Given the description of an element on the screen output the (x, y) to click on. 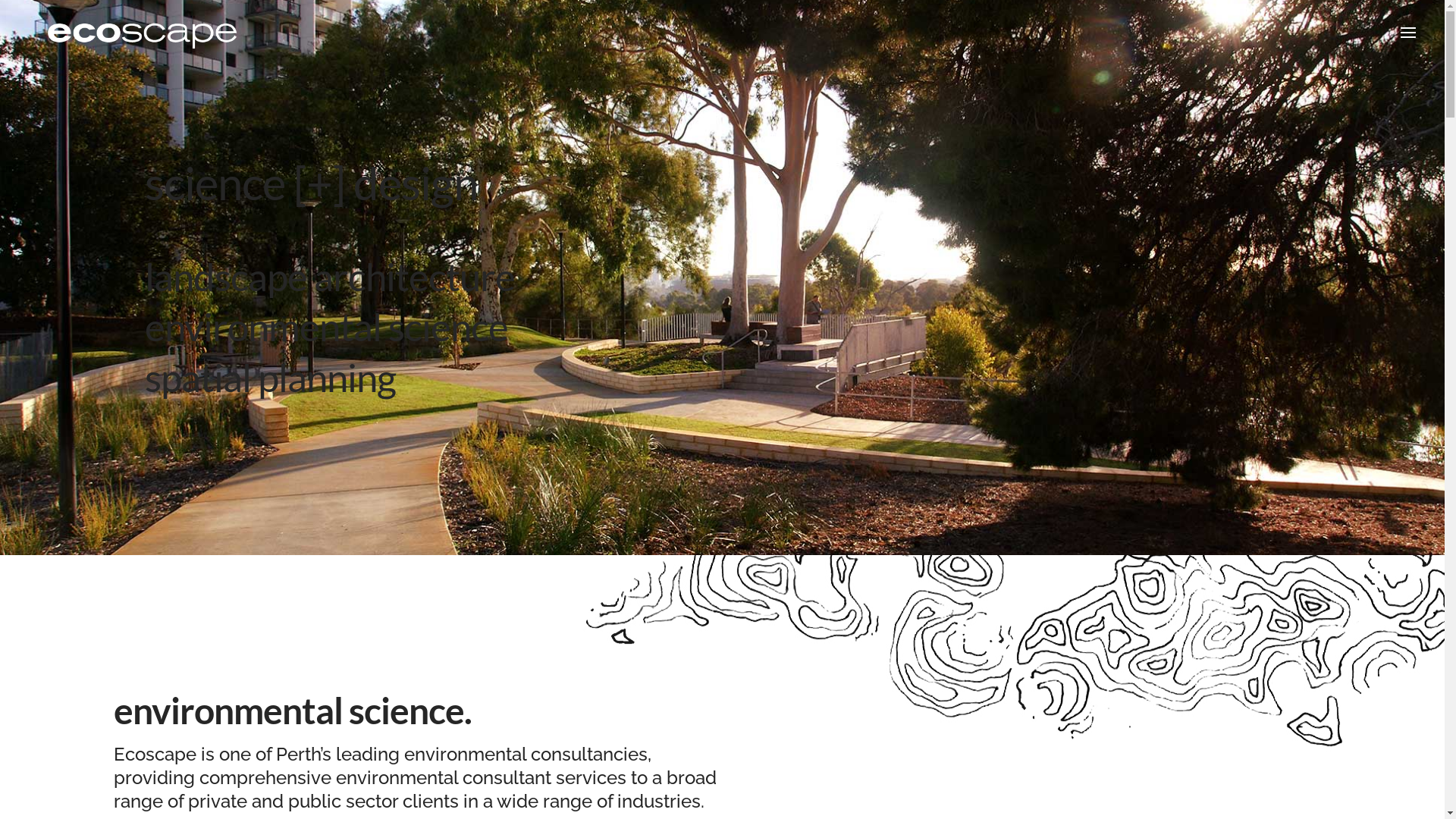
landscape architecture Element type: text (329, 276)
spatial planning Element type: text (269, 377)
environmental science Element type: text (325, 326)
